Given the description of an element on the screen output the (x, y) to click on. 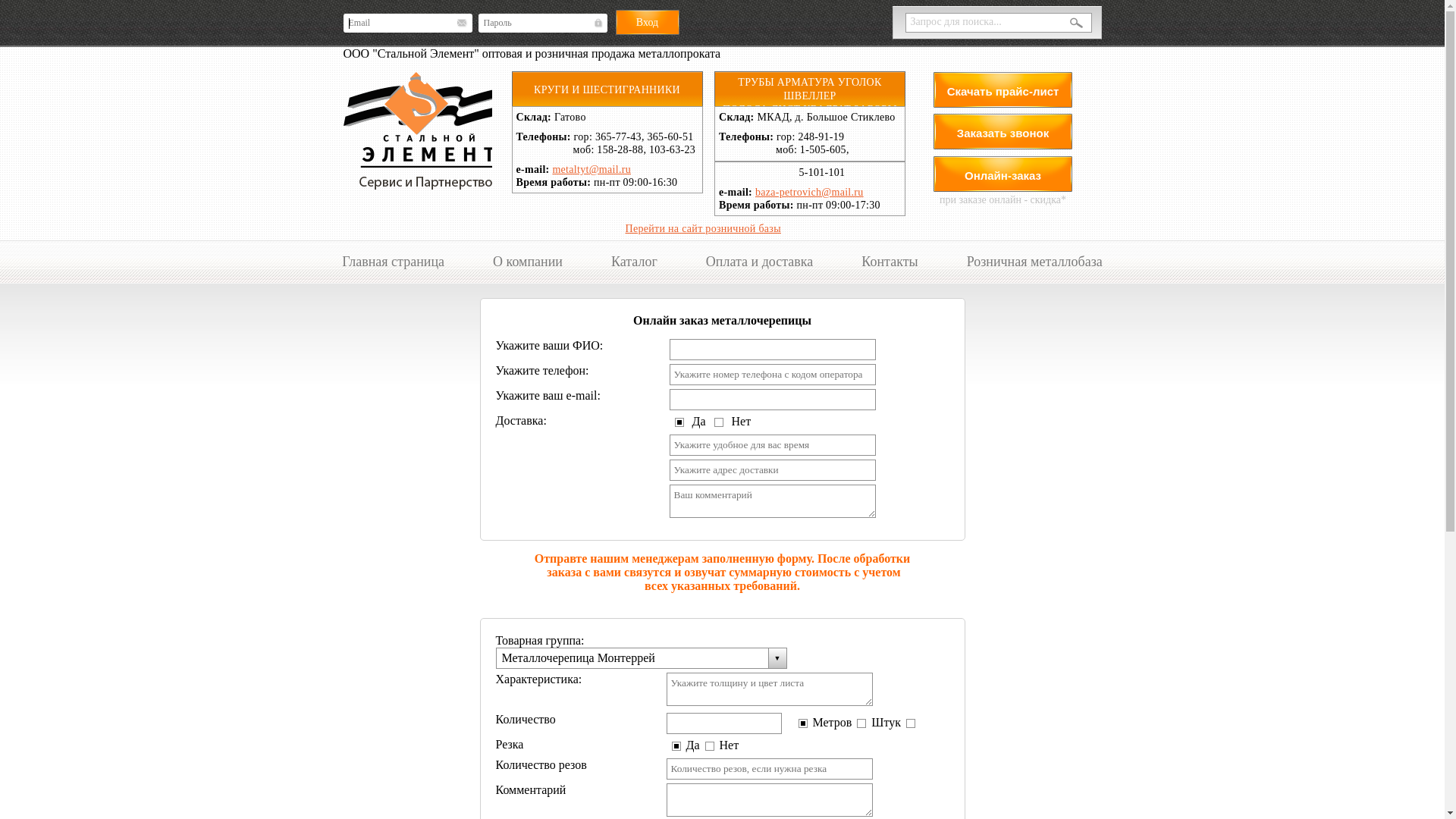
baza-petrovich@mail.ru Element type: text (809, 191)
metaltyt@mail.ru Element type: text (591, 169)
